Given the description of an element on the screen output the (x, y) to click on. 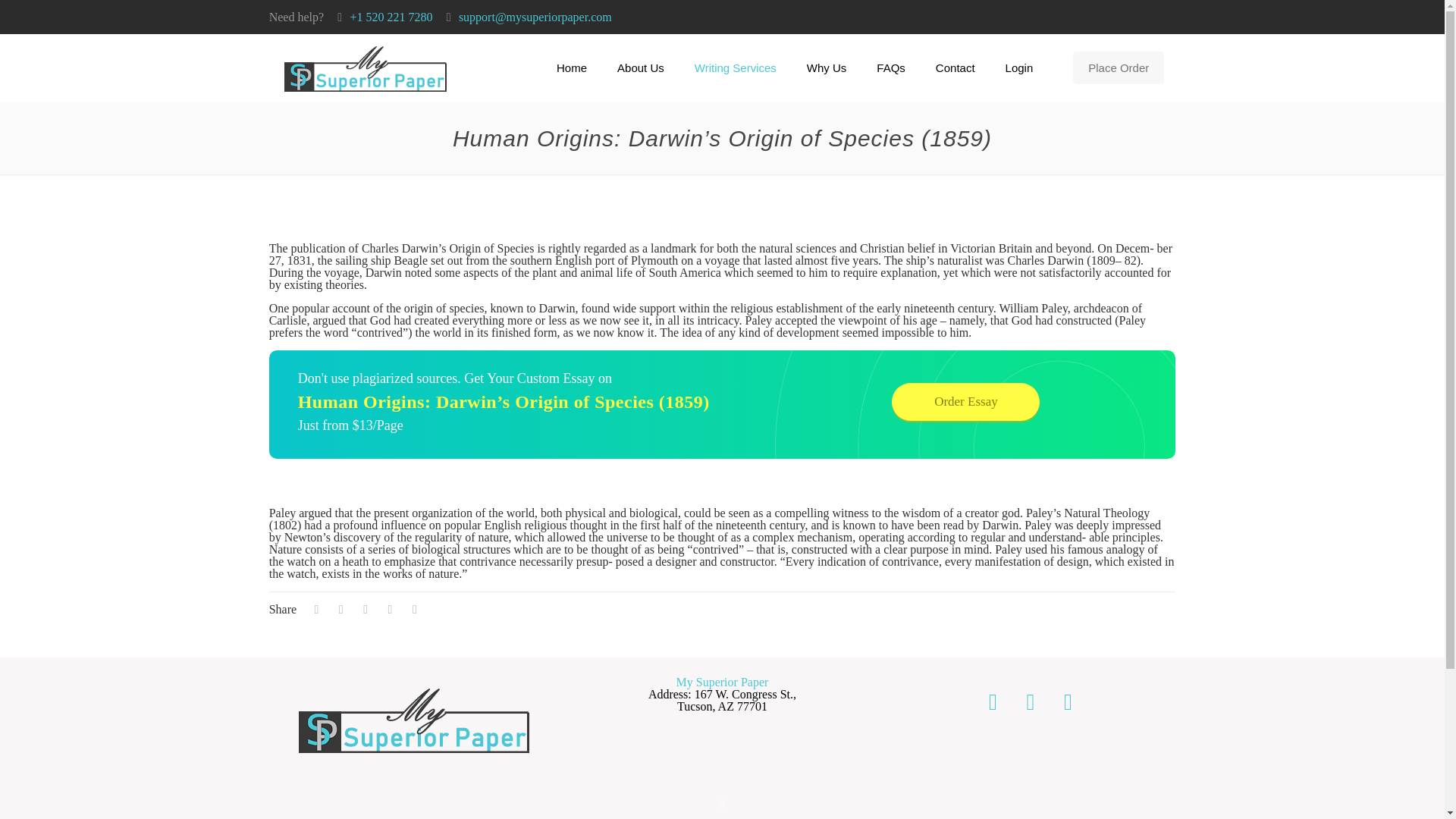
Writing Services (735, 68)
Contact (955, 68)
About Us (640, 68)
Order Essay (965, 401)
My Superior Paper (364, 68)
Why Us (826, 68)
Place Order (1118, 67)
